Given the description of an element on the screen output the (x, y) to click on. 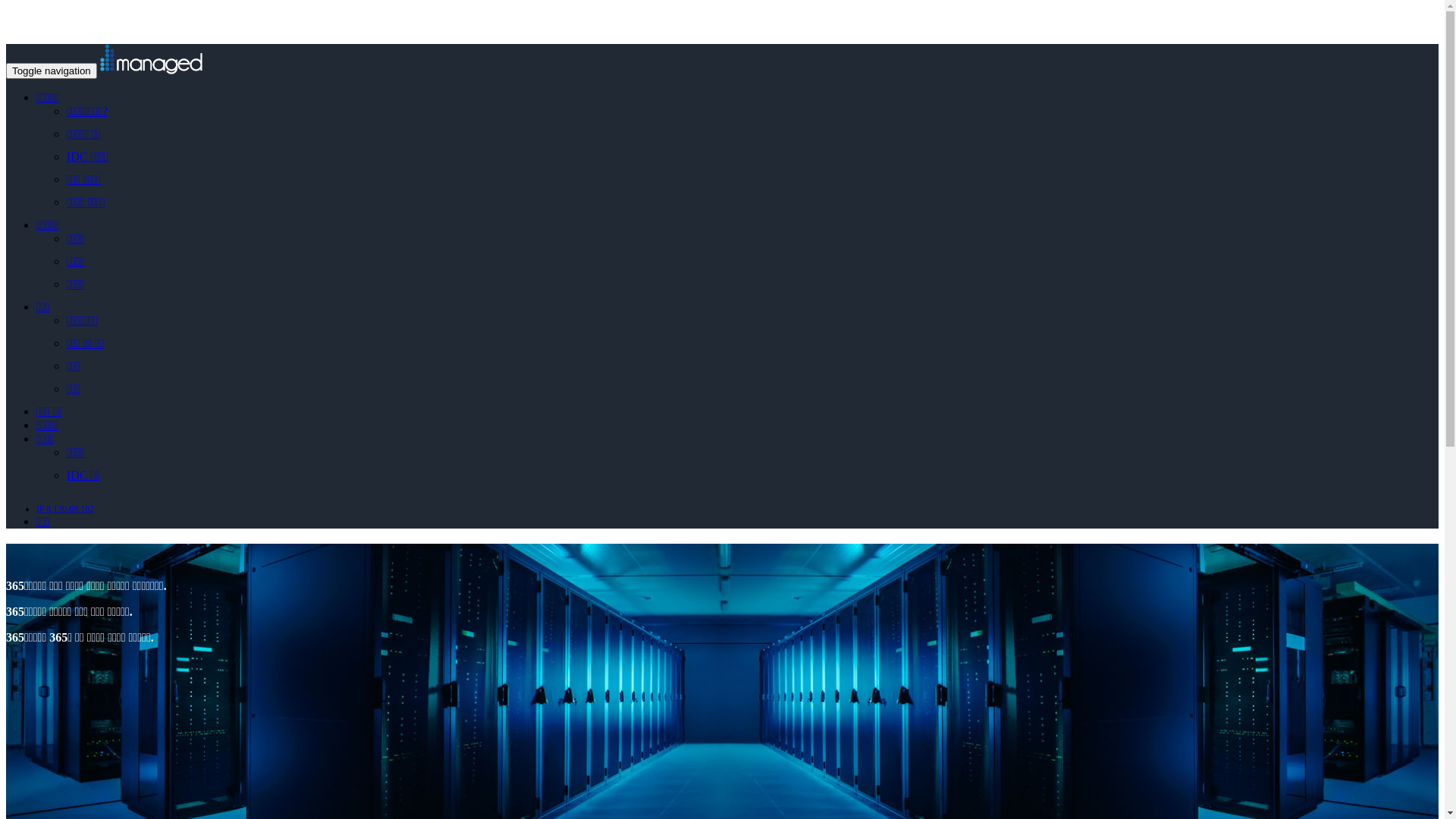
IP 8.130.69.102 Element type: text (65, 508)
Toggle navigation Element type: text (51, 70)
